Given the description of an element on the screen output the (x, y) to click on. 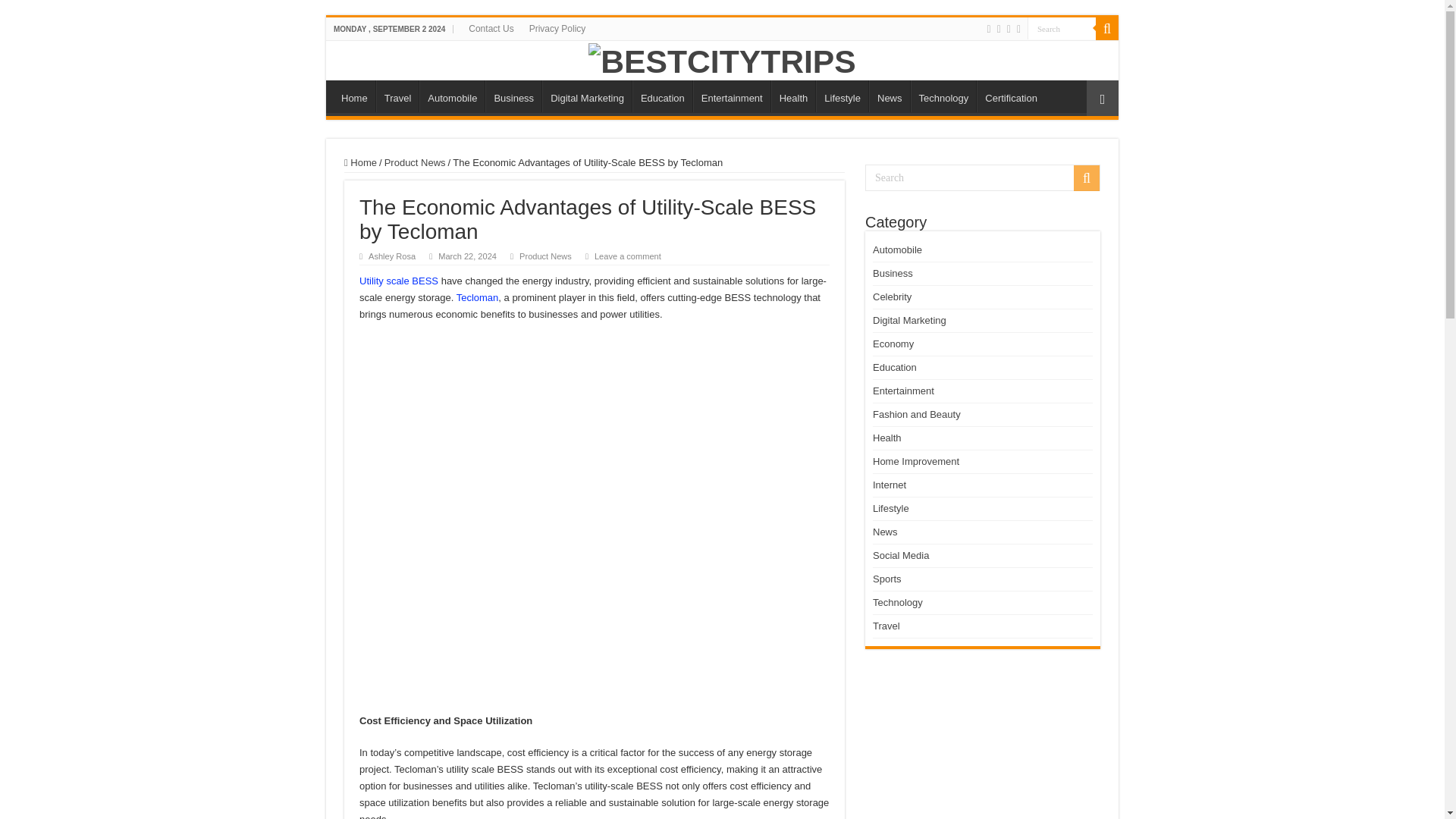
Random Article (1102, 98)
Contact Us (491, 28)
Search (1061, 28)
Ashley Rosa (391, 256)
Product News (414, 162)
BESTCITYTRIPS (722, 58)
Travel (397, 96)
Automobile (451, 96)
News (889, 96)
Health (793, 96)
